Given the description of an element on the screen output the (x, y) to click on. 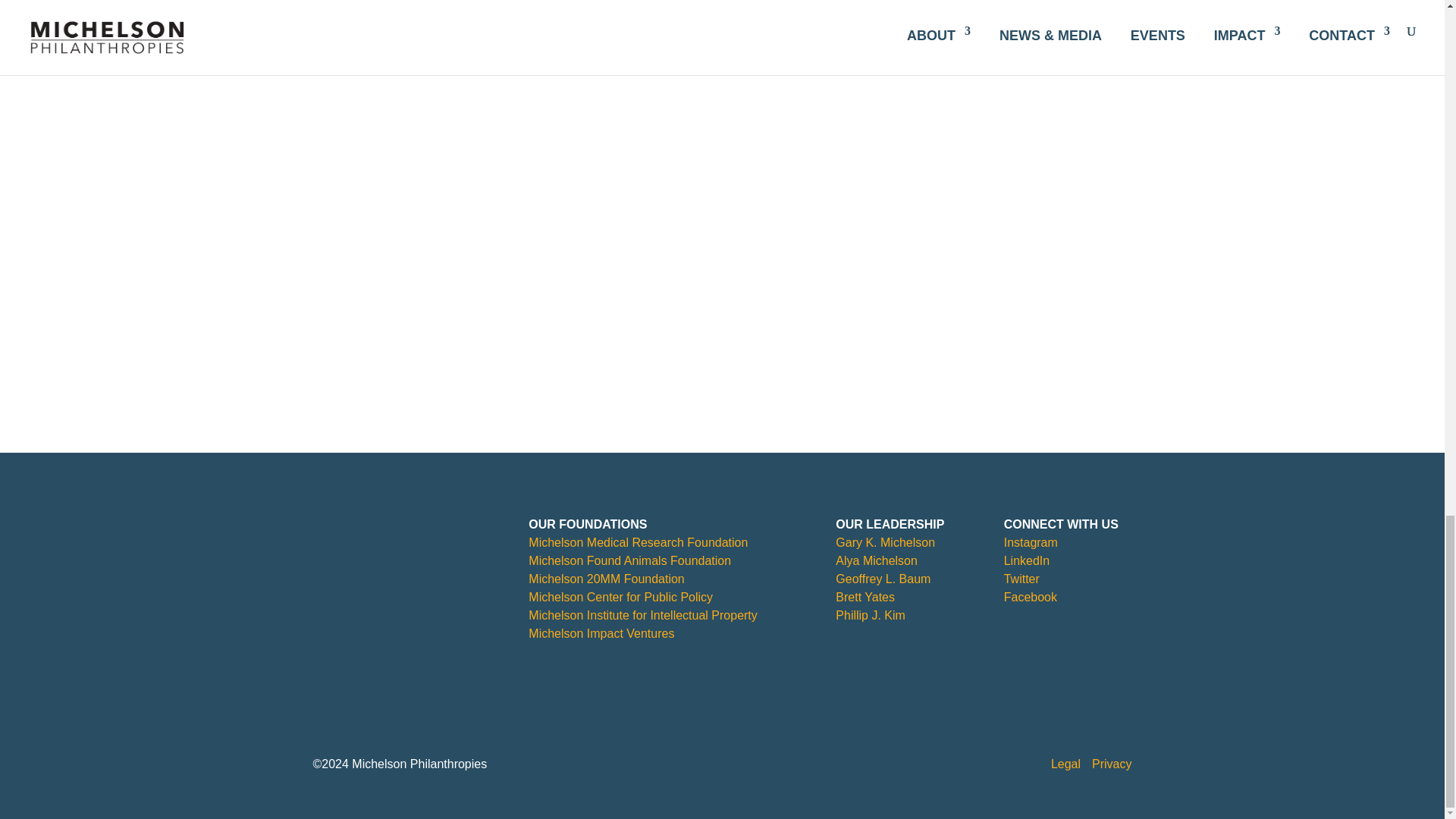
Michelson Medical Research Foundation (638, 542)
Michelson 20MM Foundation (606, 578)
Michelson Center for Public Policy (620, 596)
here (448, 4)
Michelson Institute for Intellectual Property (642, 615)
Michelson Impact Ventures (601, 633)
Michelson Found Animals Foundation (629, 560)
